Given the description of an element on the screen output the (x, y) to click on. 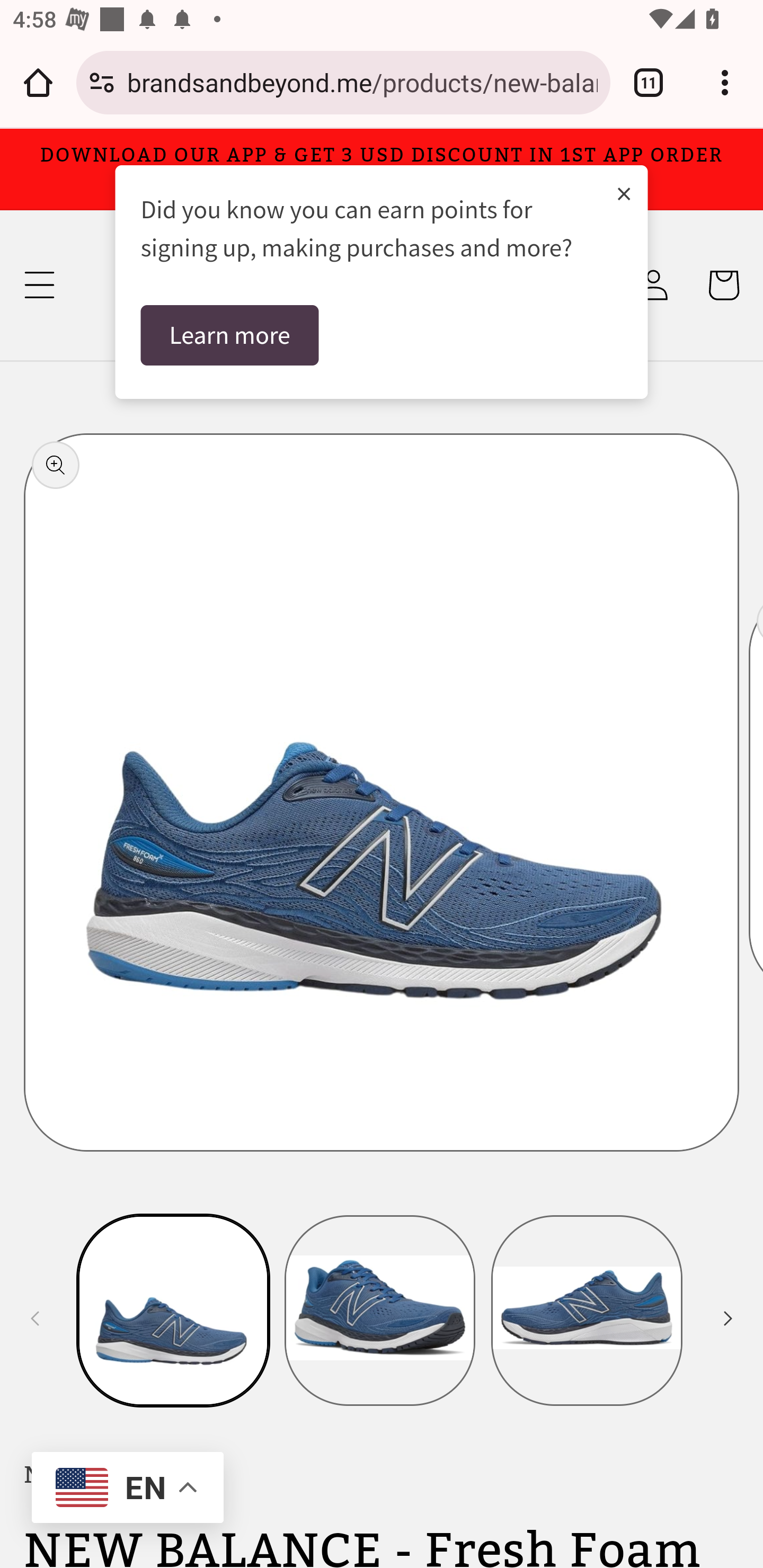
Open the home page (38, 82)
Connection is secure (101, 82)
Switch or close tabs (648, 82)
Customize and control Google Chrome (724, 82)
Menu (39, 285)
Cart (723, 285)
Load image 1 in gallery view (173, 1309)
Load image 2 in gallery view (380, 1309)
Load image 3 in gallery view (587, 1309)
Slide left (35, 1318)
Slide right (727, 1318)
